Given the description of an element on the screen output the (x, y) to click on. 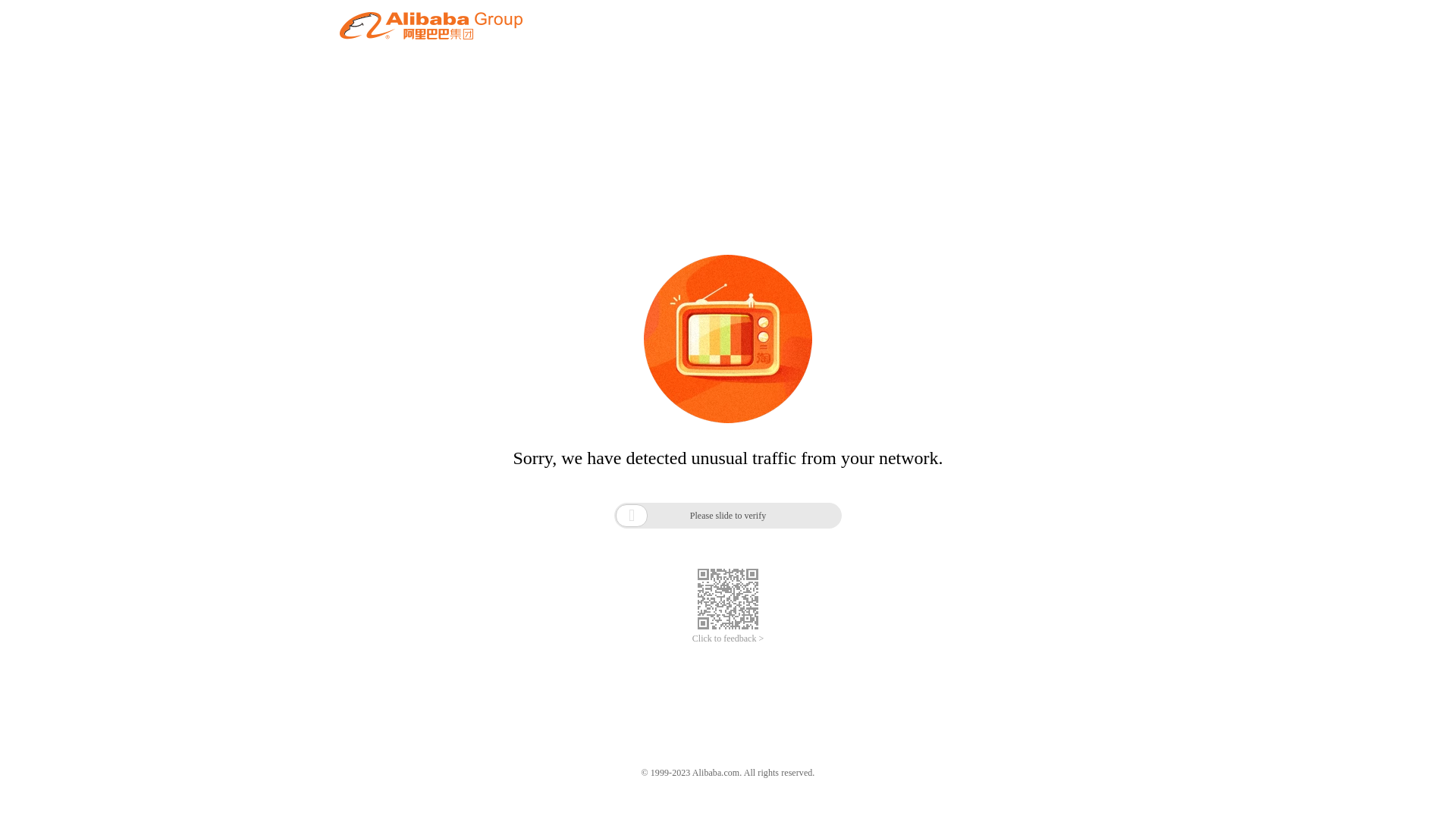
Click to feedback > Element type: text (727, 638)
